Given the description of an element on the screen output the (x, y) to click on. 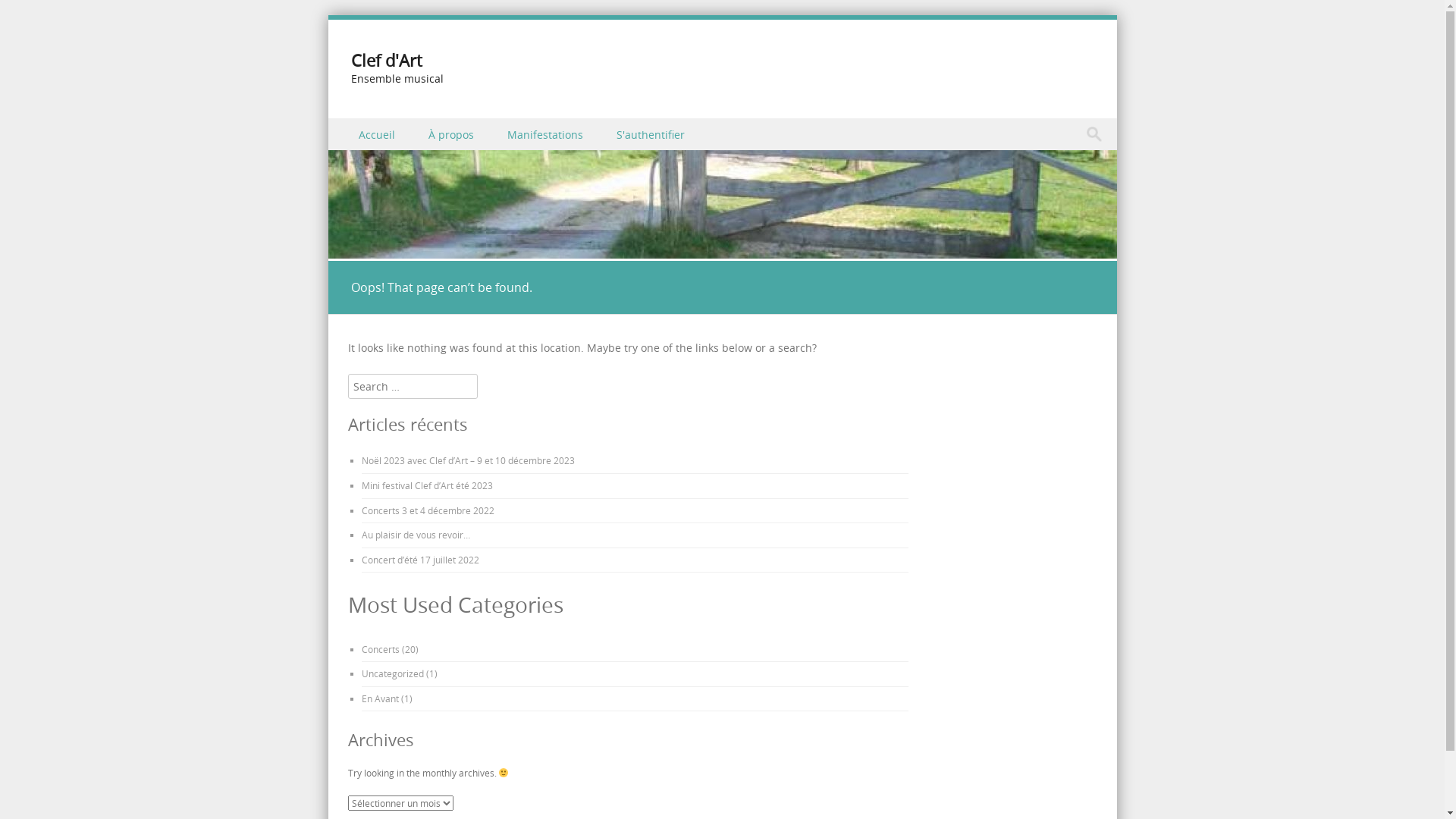
Search for: Element type: hover (1097, 133)
S'authentifier Element type: text (651, 134)
Concerts Element type: text (379, 649)
Accueil Element type: text (377, 134)
Manifestations Element type: text (545, 134)
Search Element type: text (26, 14)
Menu Element type: text (355, 151)
Uncategorized Element type: text (391, 673)
Skip to content Element type: text (365, 127)
Clef d'Art Element type: hover (721, 249)
Clef d'Art Element type: text (385, 60)
En Avant Element type: text (379, 698)
